Given the description of an element on the screen output the (x, y) to click on. 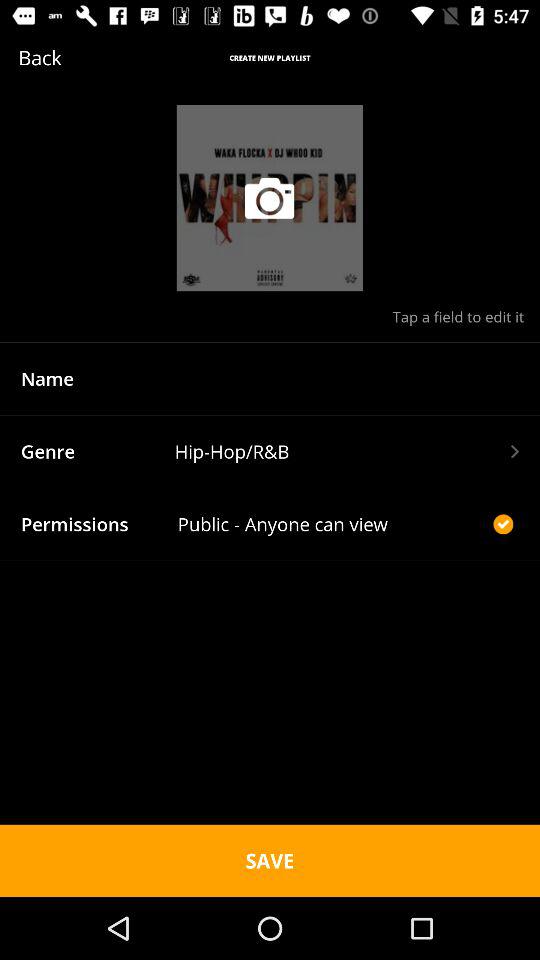
choose icon next to genre item (346, 451)
